Given the description of an element on the screen output the (x, y) to click on. 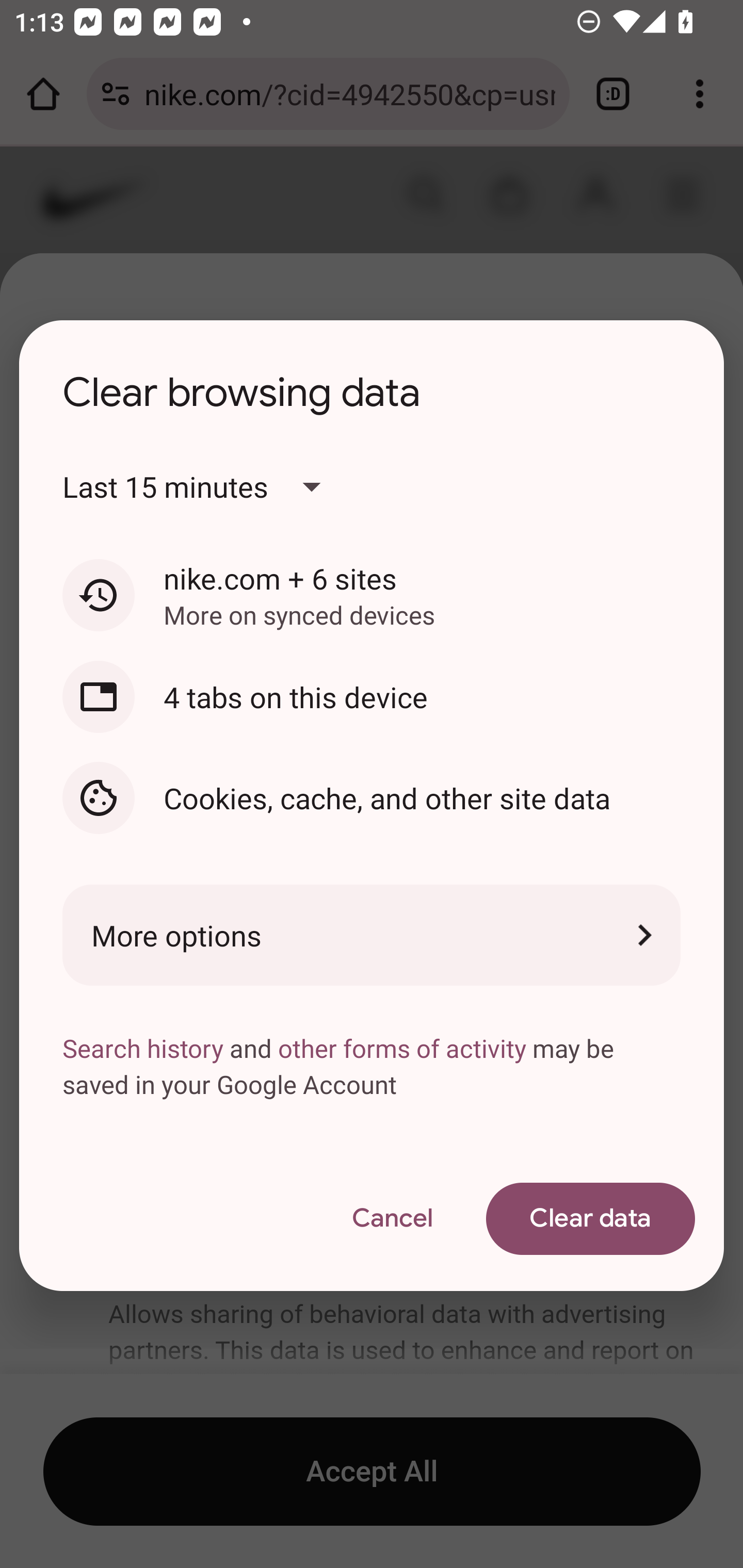
Last 15 minutes (208, 486)
More options More options to clear browsing data (371, 935)
Cancel (391, 1219)
Clear data (589, 1219)
